Given the description of an element on the screen output the (x, y) to click on. 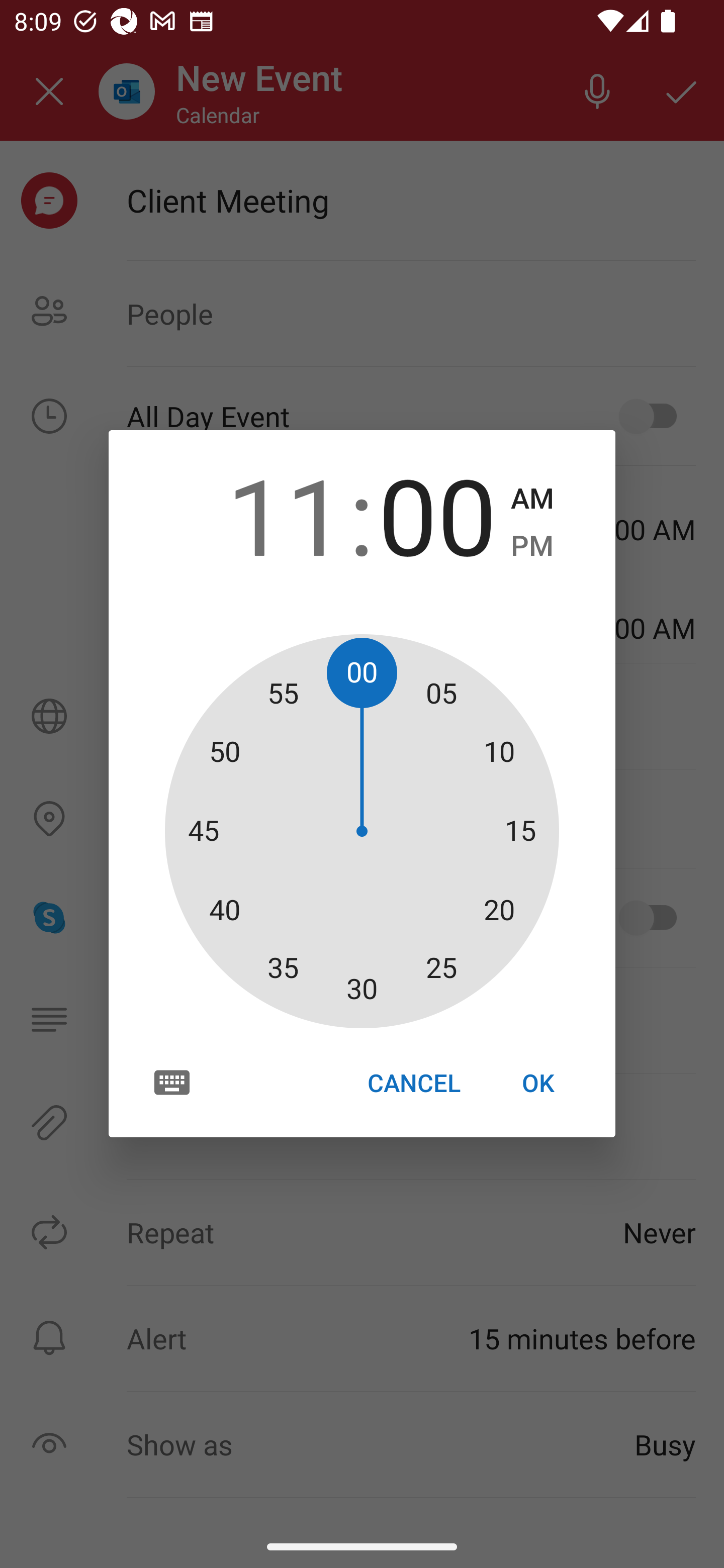
11 (285, 513)
00 (436, 513)
AM (532, 498)
PM (532, 546)
CANCEL (413, 1082)
OK (537, 1082)
Switch to text input mode for the time input. (171, 1081)
